Given the description of an element on the screen output the (x, y) to click on. 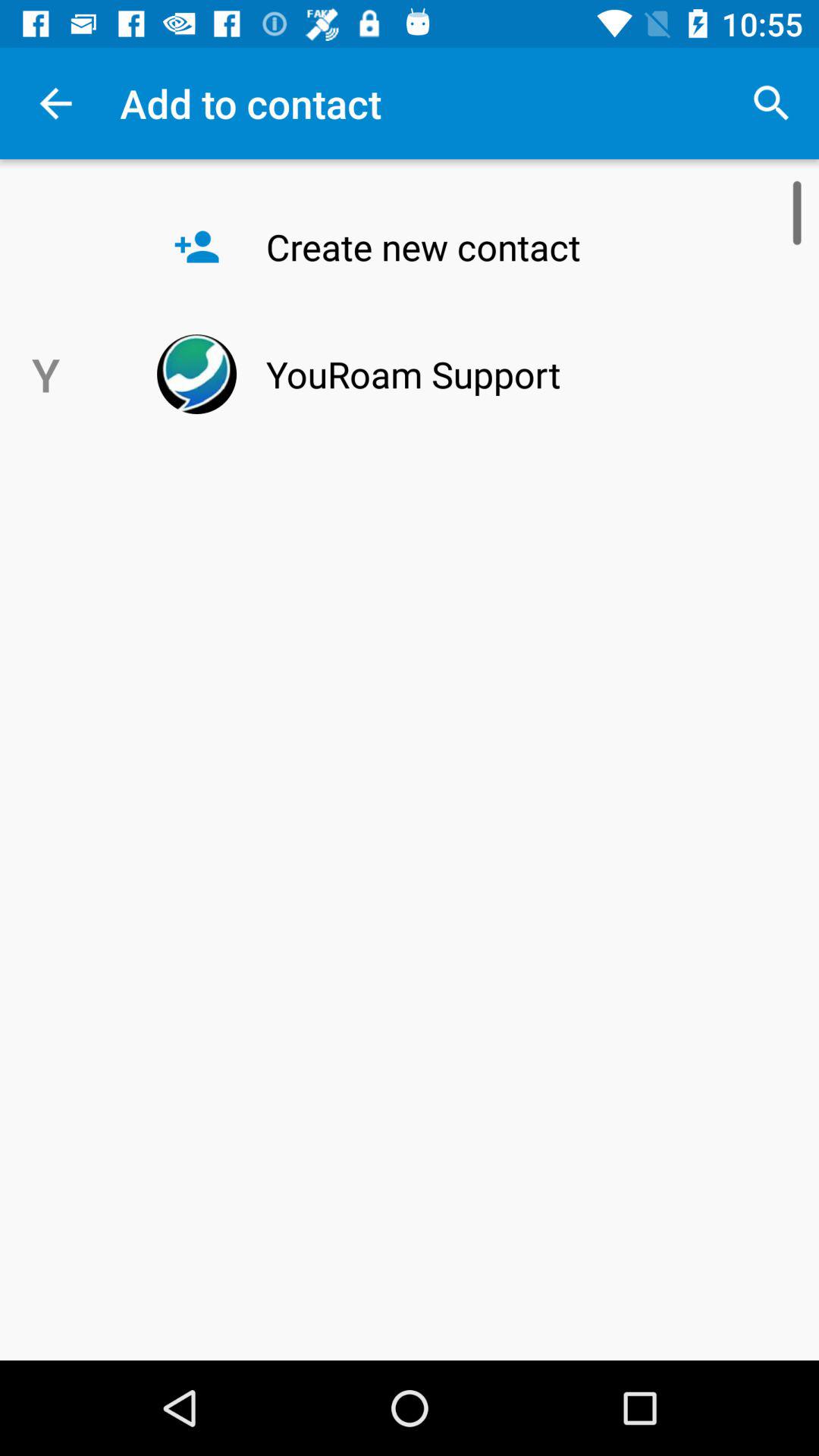
tap the icon at the top right corner (771, 103)
